Given the description of an element on the screen output the (x, y) to click on. 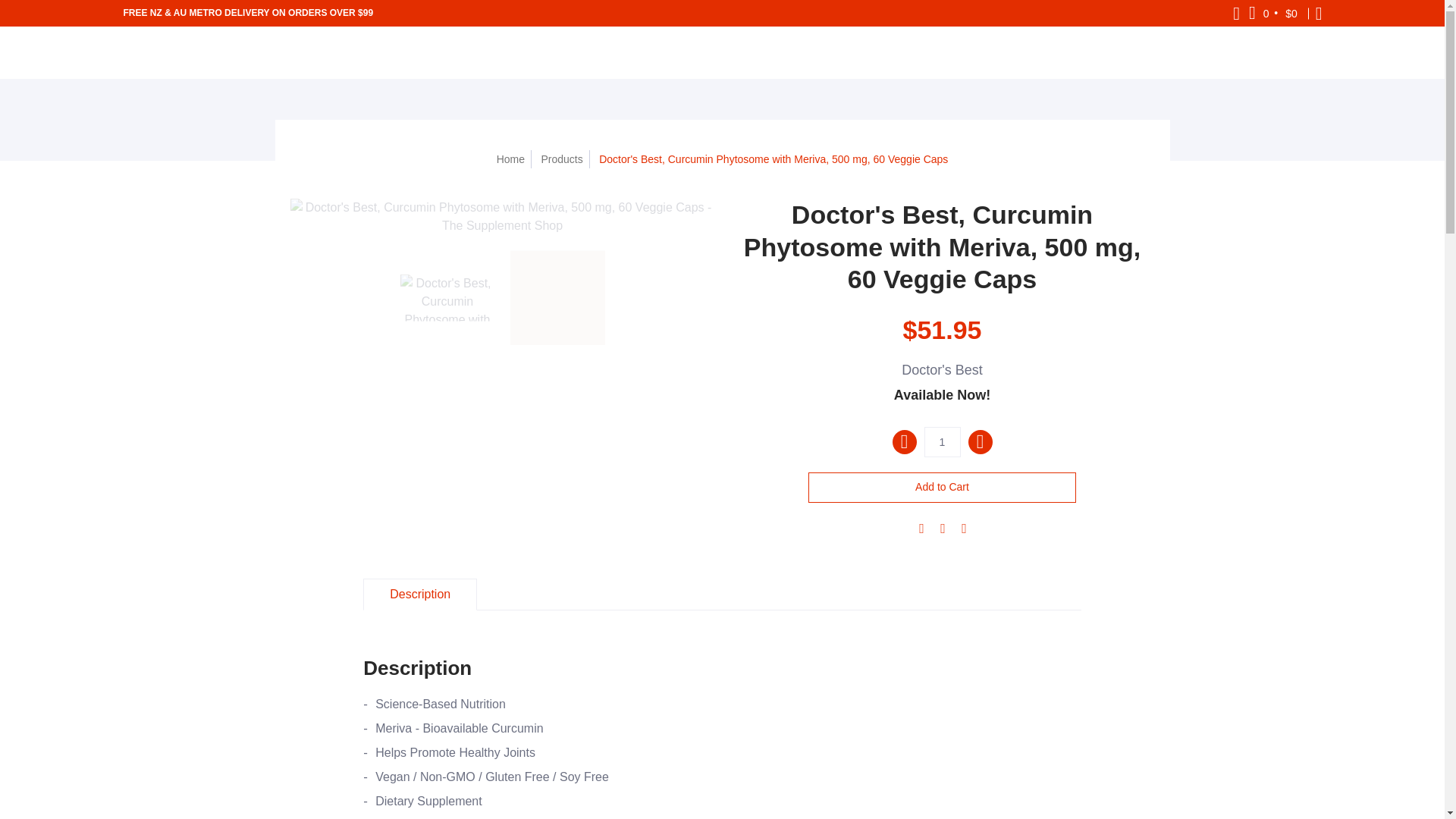
Cart (1274, 13)
Add to Cart (941, 487)
1 (941, 441)
